Given the description of an element on the screen output the (x, y) to click on. 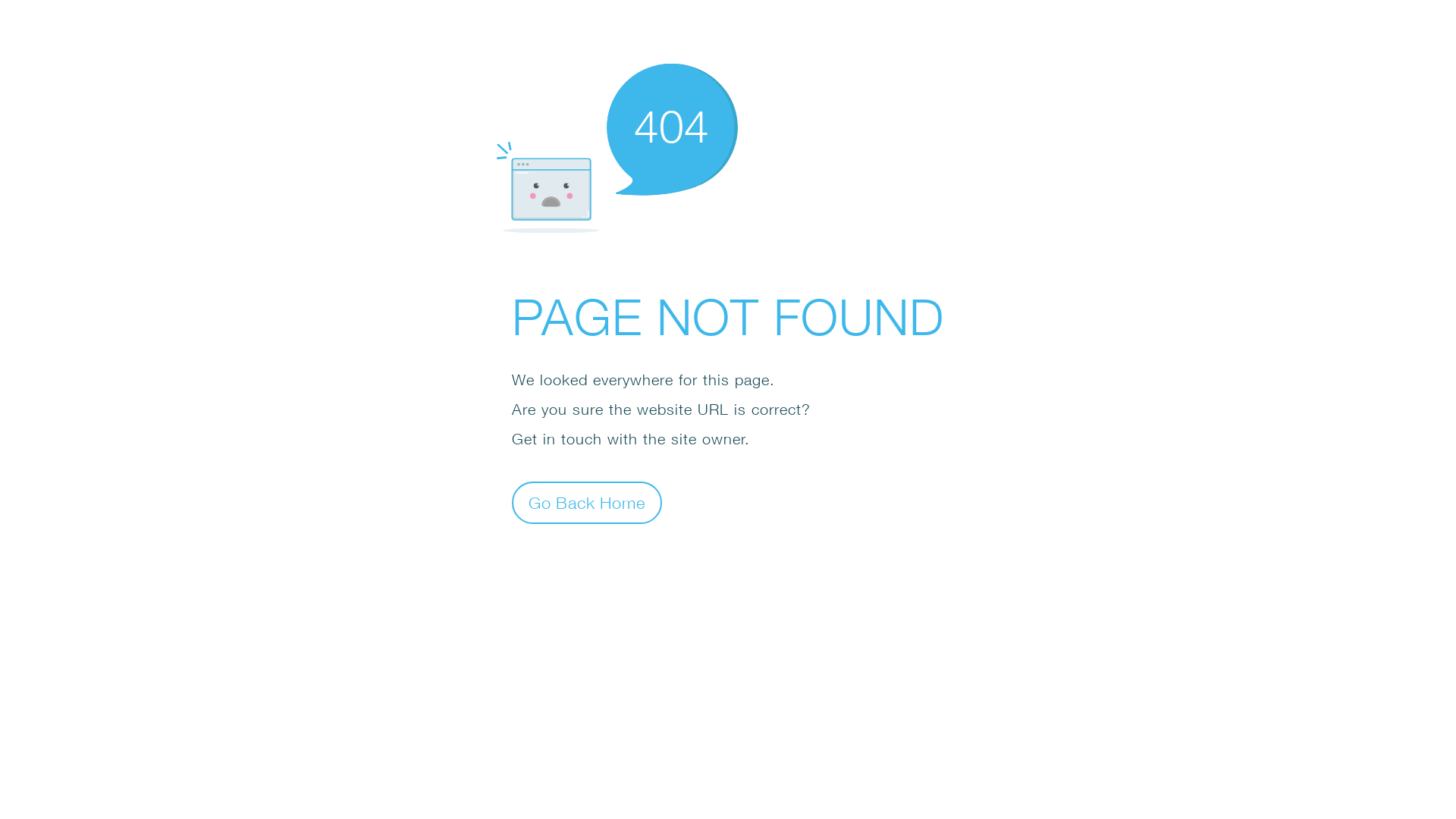
Go Back Home Element type: text (586, 502)
